Given the description of an element on the screen output the (x, y) to click on. 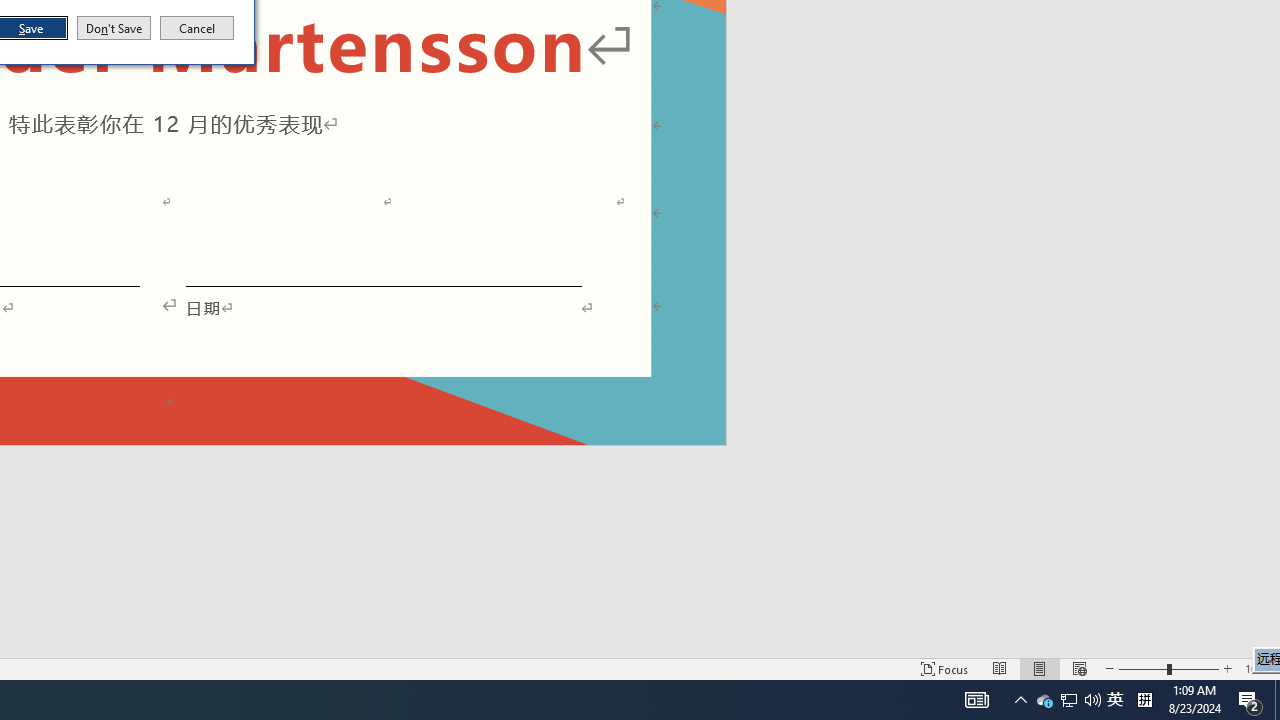
Cancel (197, 27)
